Given the description of an element on the screen output the (x, y) to click on. 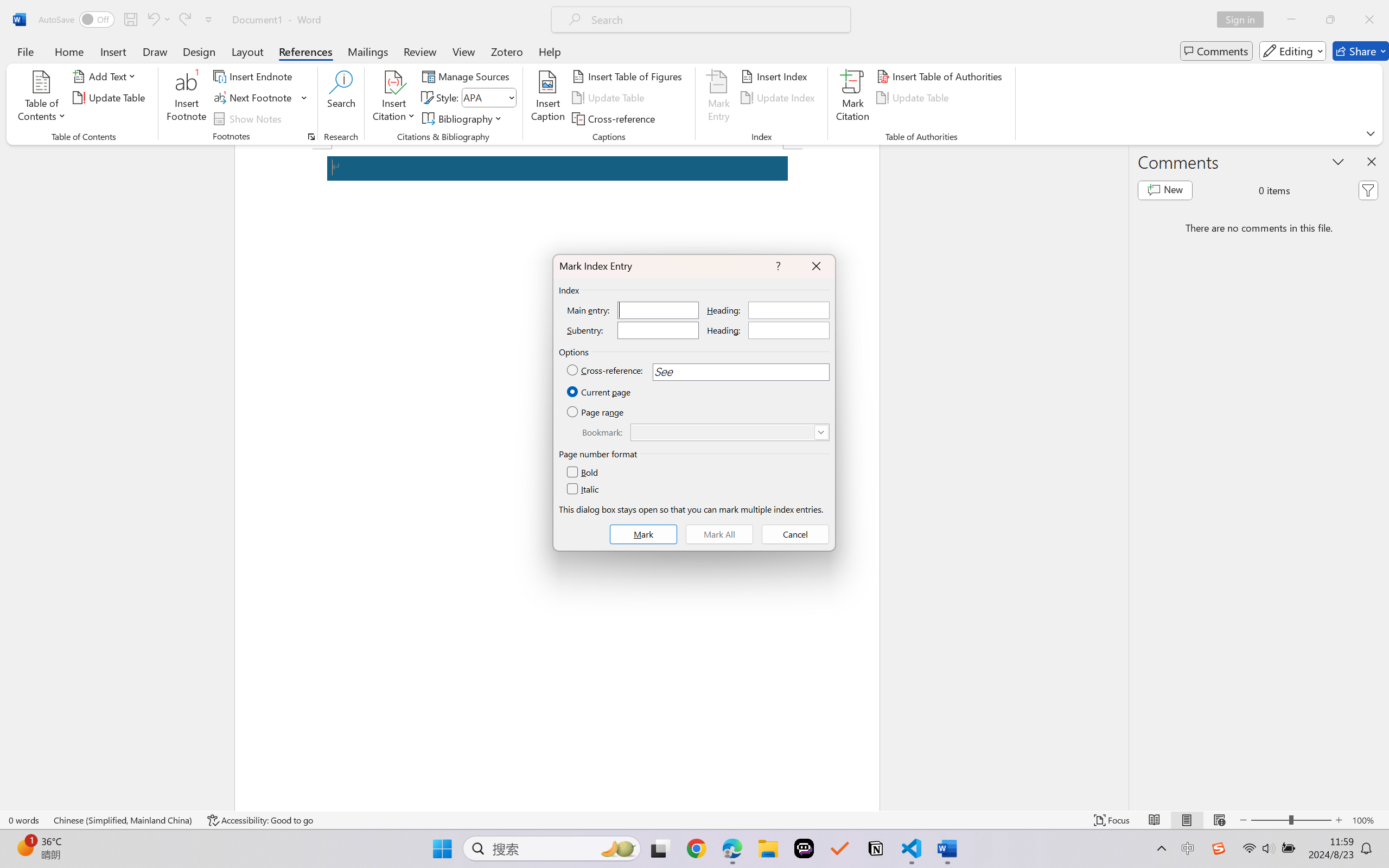
Language Chinese (Simplified, Mainland China) (123, 819)
Bibliography (463, 118)
Show Notes (248, 118)
Update Table (914, 97)
Manage Sources... (467, 75)
